Given the description of an element on the screen output the (x, y) to click on. 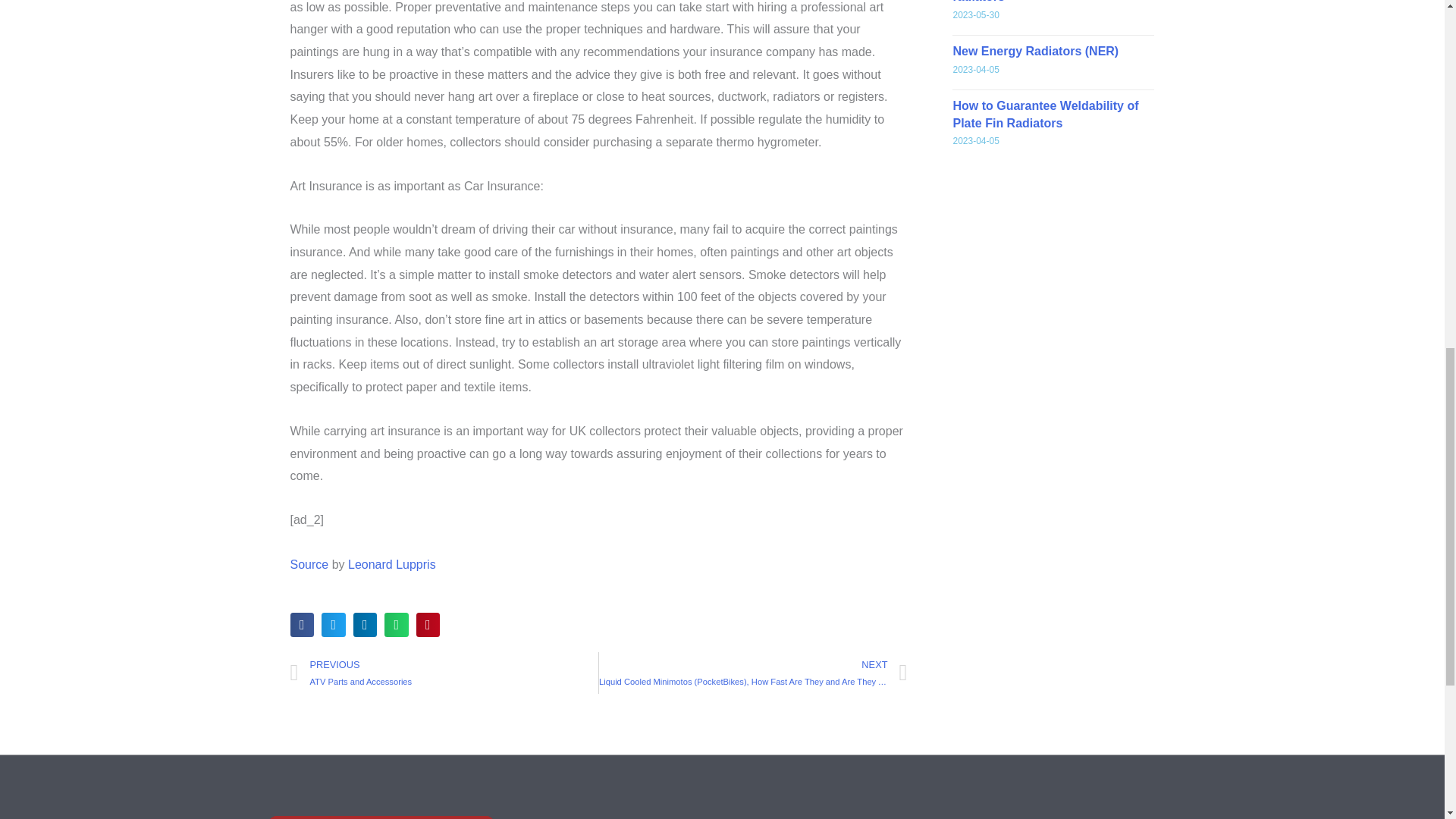
at radiator logo (380, 817)
